Given the description of an element on the screen output the (x, y) to click on. 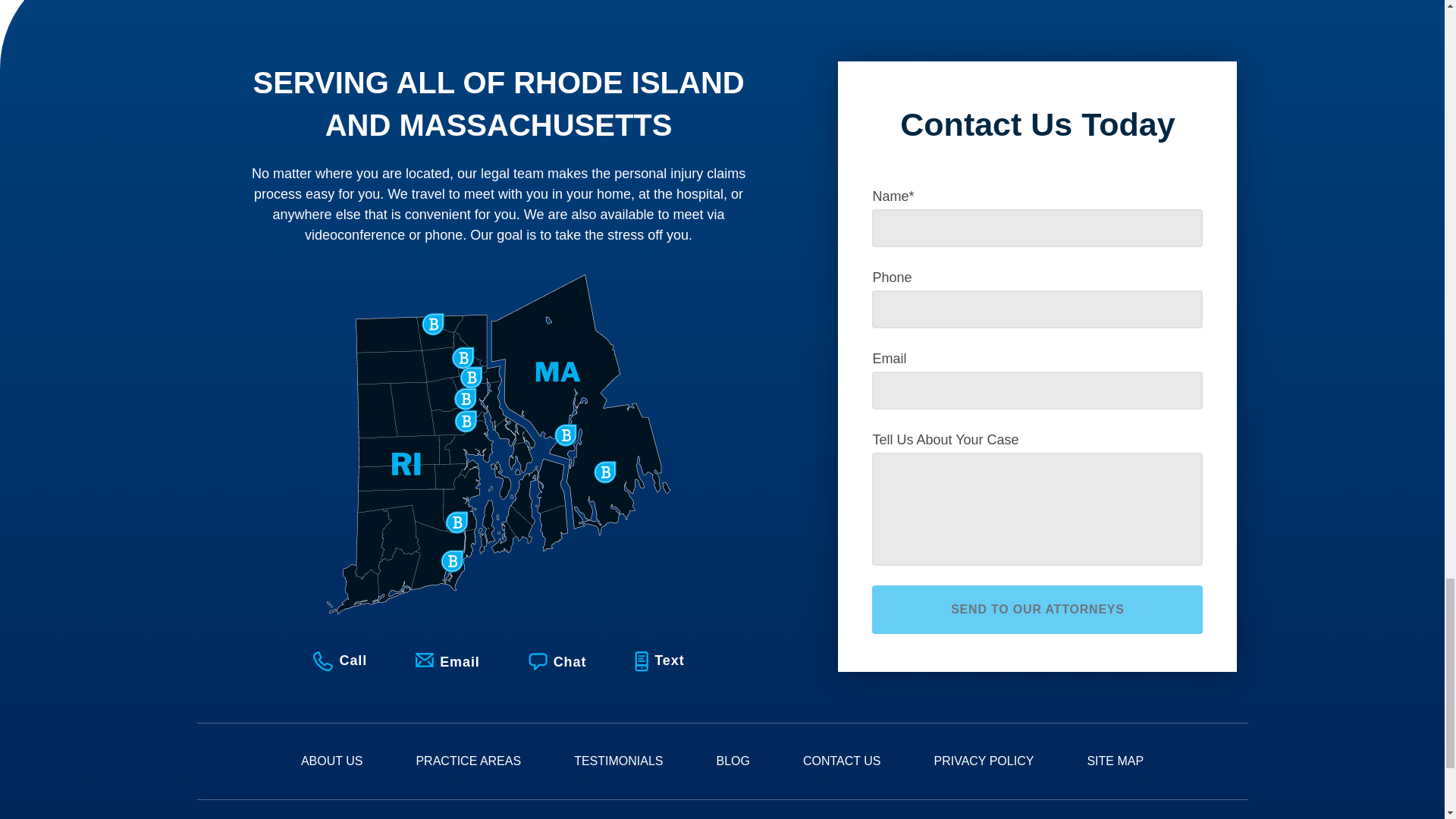
Send To Our Attorneys (1037, 609)
